Given the description of an element on the screen output the (x, y) to click on. 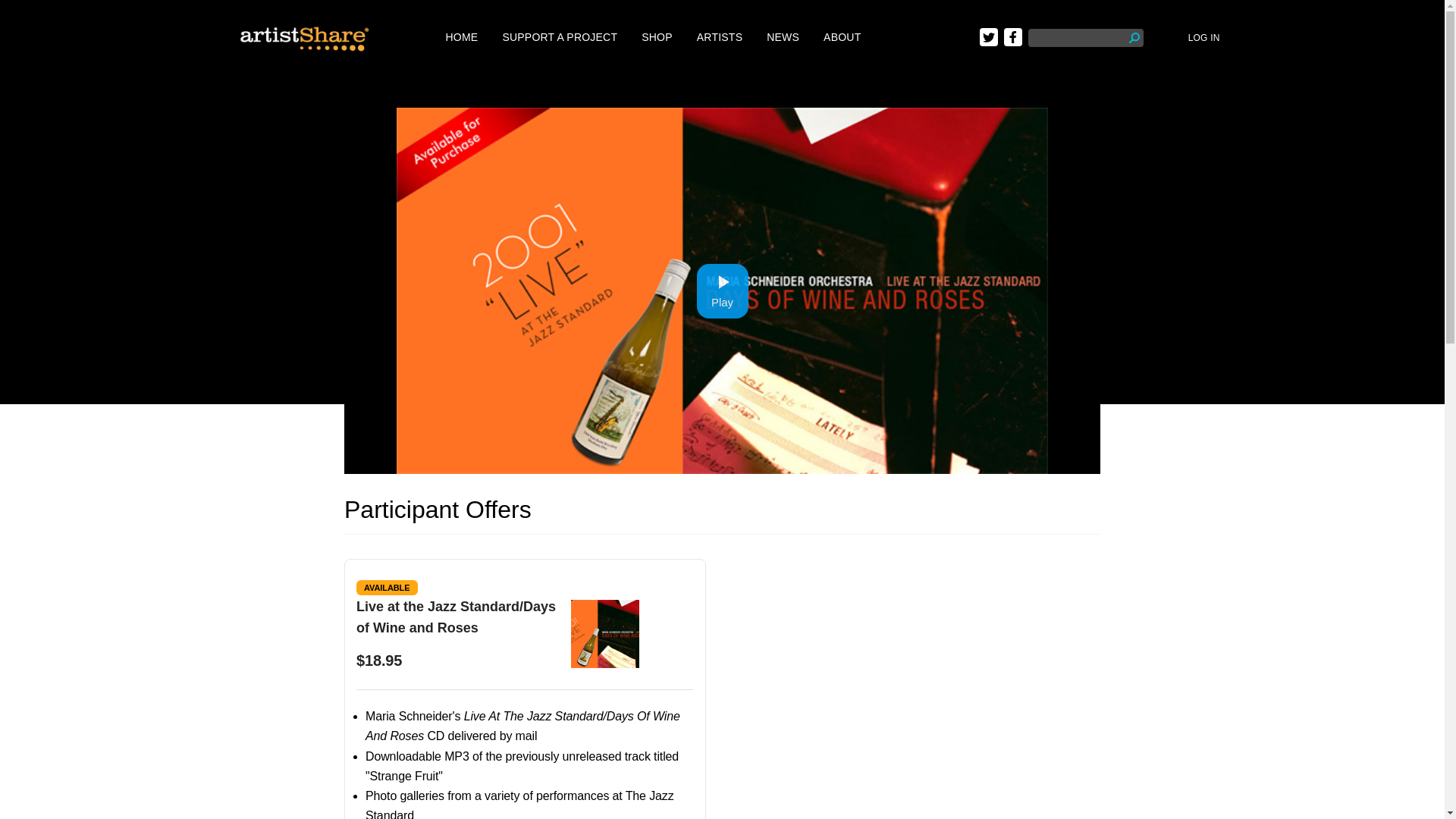
SUPPORT A PROJECT (559, 37)
LOG IN (1204, 37)
Play Video (721, 290)
ARTISTS (719, 37)
NEWS (783, 37)
Play Video (721, 290)
ABOUT (842, 37)
HOME (462, 37)
SHOP (657, 37)
